Given the description of an element on the screen output the (x, y) to click on. 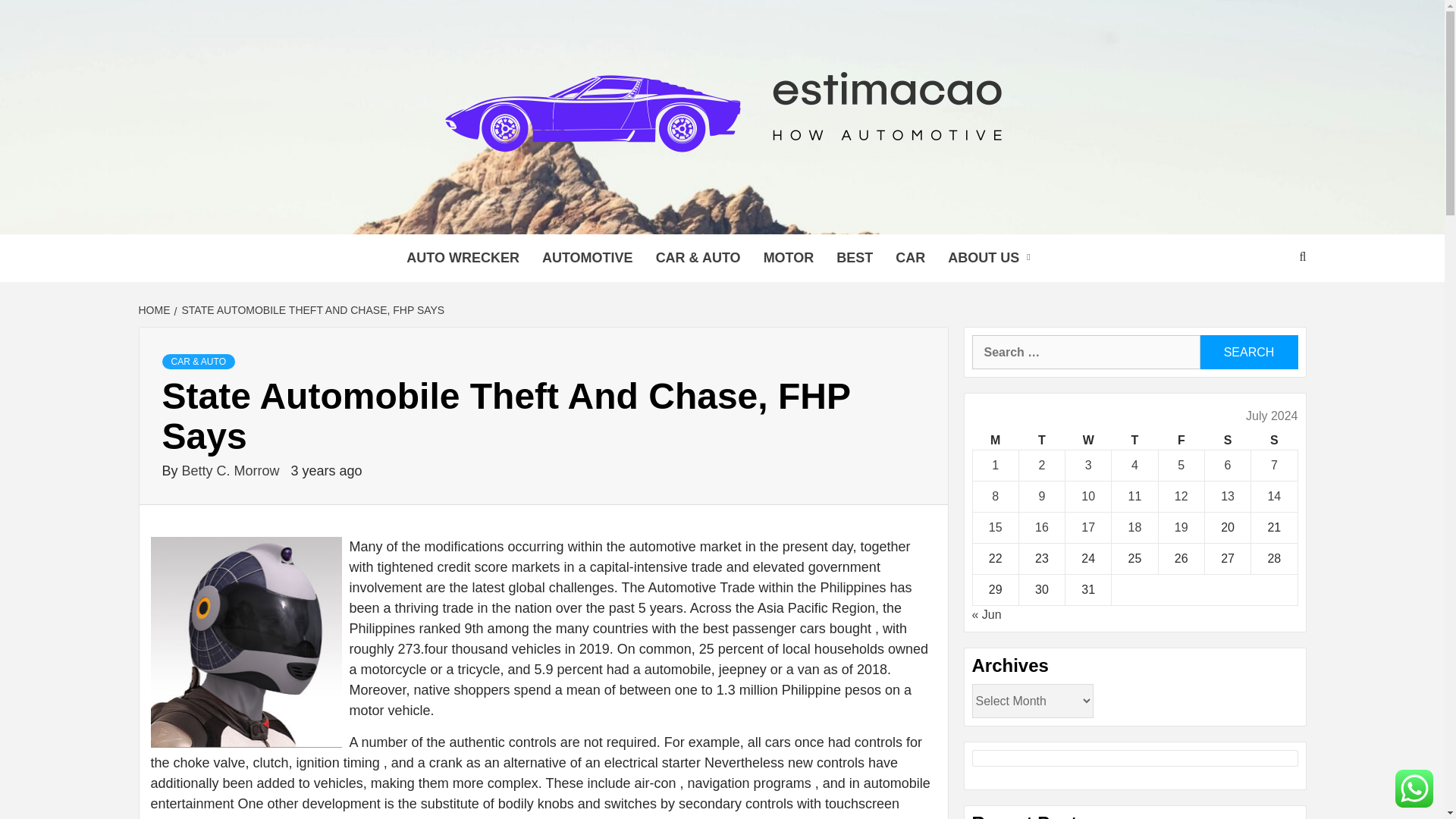
AUTO WRECKER (462, 257)
CAR (909, 257)
STATE AUTOMOBILE THEFT AND CHASE, FHP SAYS (311, 309)
Thursday (1134, 440)
Monday (994, 440)
Wednesday (1088, 440)
MOTOR (788, 257)
BEST (854, 257)
ABOUT US (992, 257)
ESTIMACAO (368, 214)
Betty C. Morrow (232, 470)
Sunday (1273, 440)
Saturday (1227, 440)
Tuesday (1040, 440)
11 (1134, 495)
